Given the description of an element on the screen output the (x, y) to click on. 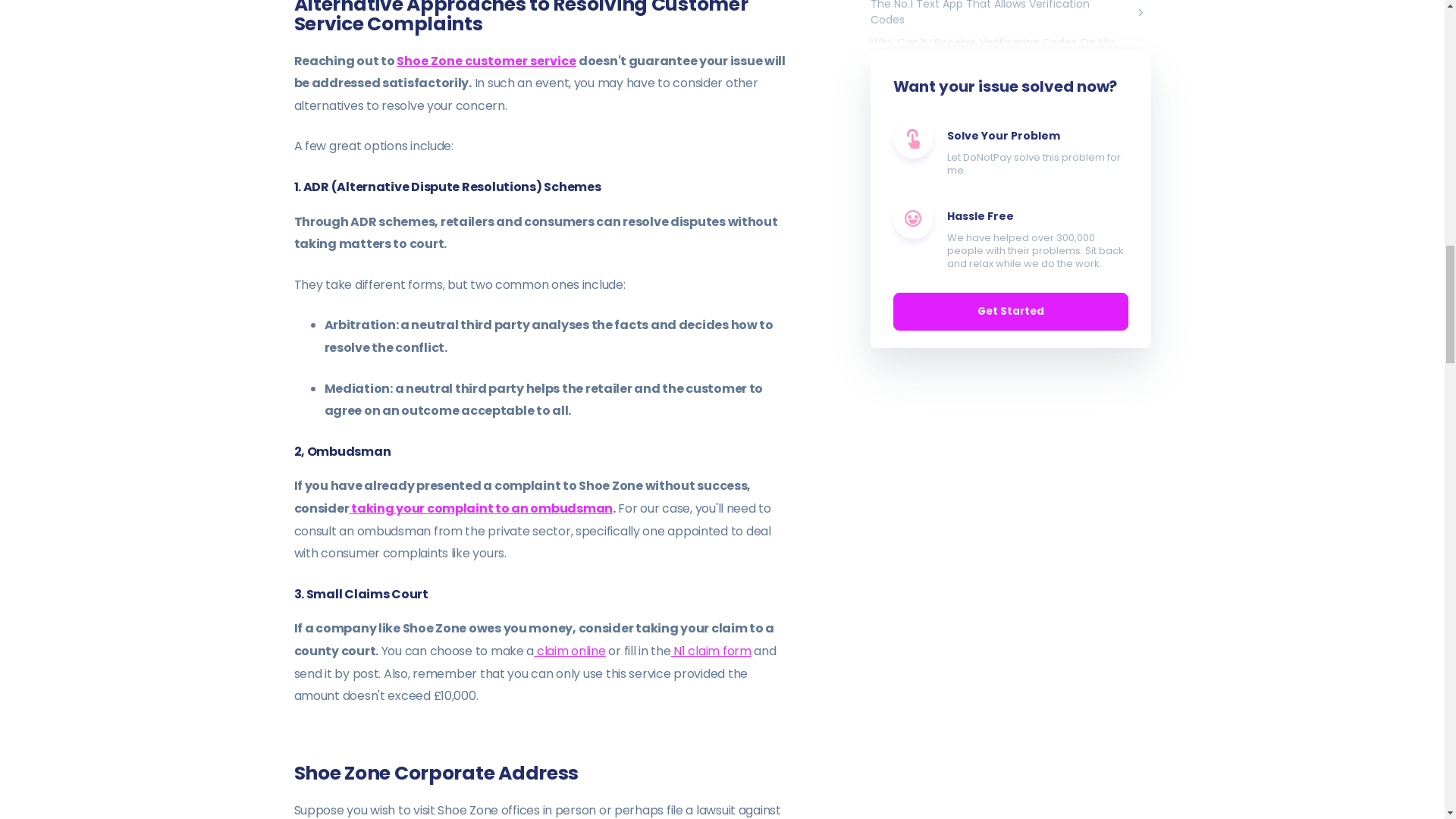
N1 claim form (711, 651)
Shoe Zone customer service (486, 60)
taking your complaint to an ombudsman (480, 507)
claim online (569, 651)
